Given the description of an element on the screen output the (x, y) to click on. 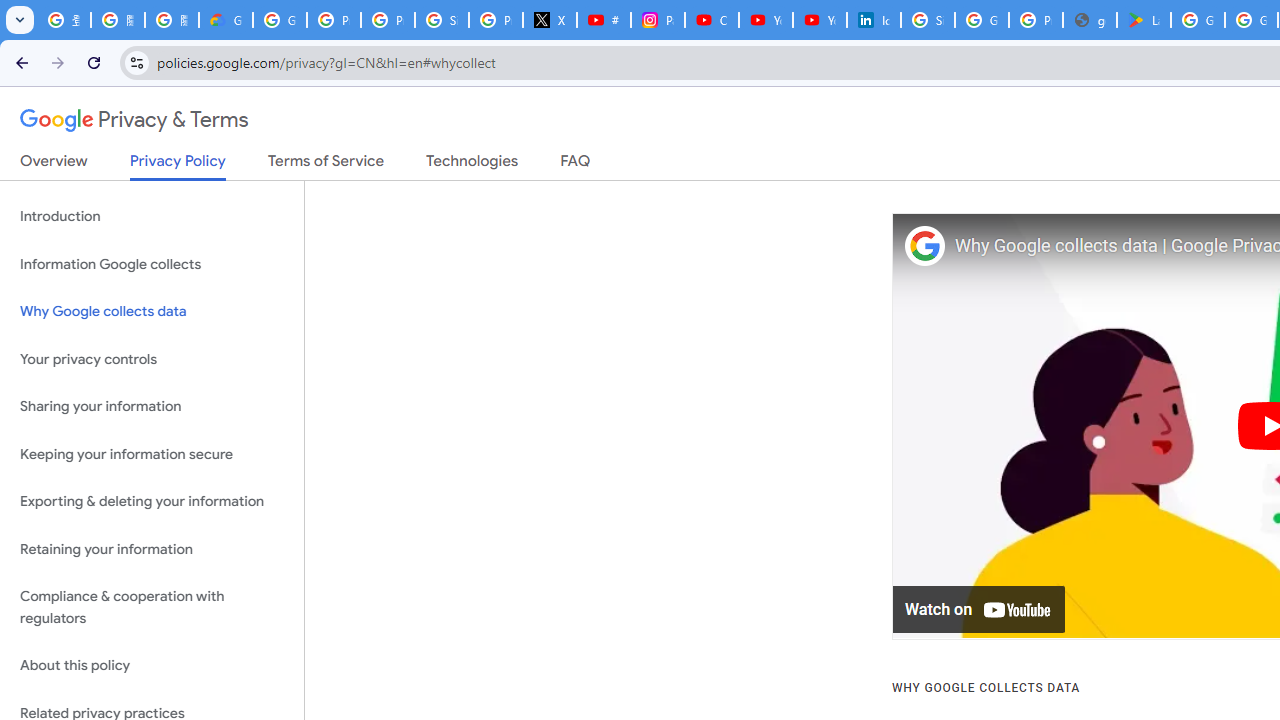
YouTube Culture & Trends - YouTube Top 10, 2021 (819, 20)
Privacy Policy (177, 166)
google_privacy_policy_en.pdf (1089, 20)
Technologies (472, 165)
Google Cloud Privacy Notice (225, 20)
Keeping your information secure (152, 453)
Identity verification via Persona | LinkedIn Help (874, 20)
Photo image of Google (924, 246)
Last Shelter: Survival - Apps on Google Play (1144, 20)
Privacy Help Center - Policies Help (387, 20)
